Given the description of an element on the screen output the (x, y) to click on. 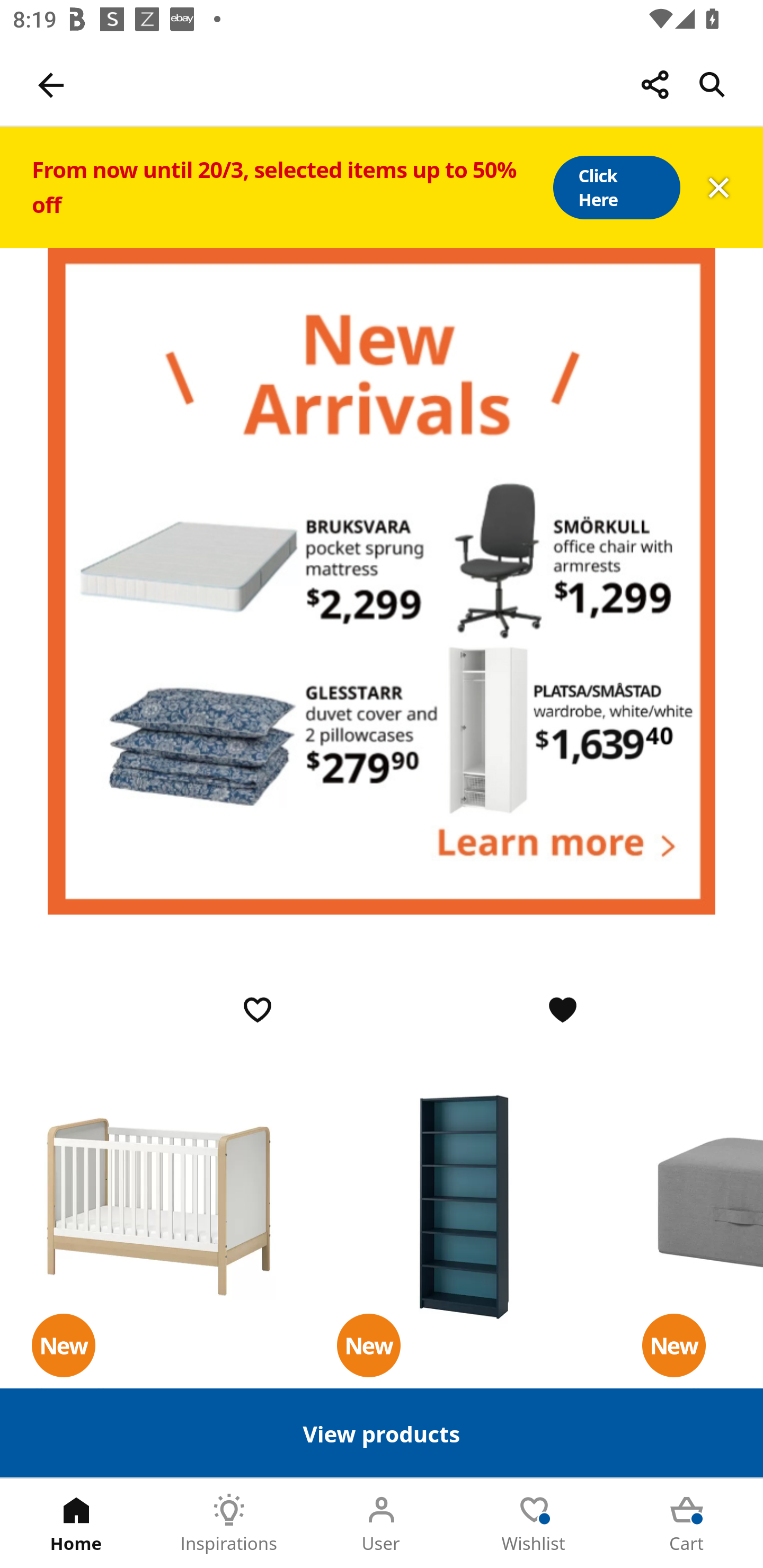
Click Here (615, 187)
newitems#shop-now (381, 580)
ÄLSKVÄRD (159, 1206)
BILLY (464, 1206)
View products (381, 1432)
Home
Tab 1 of 5 (76, 1522)
Inspirations
Tab 2 of 5 (228, 1522)
User
Tab 3 of 5 (381, 1522)
Wishlist
Tab 4 of 5 (533, 1522)
Cart
Tab 5 of 5 (686, 1522)
